Given the description of an element on the screen output the (x, y) to click on. 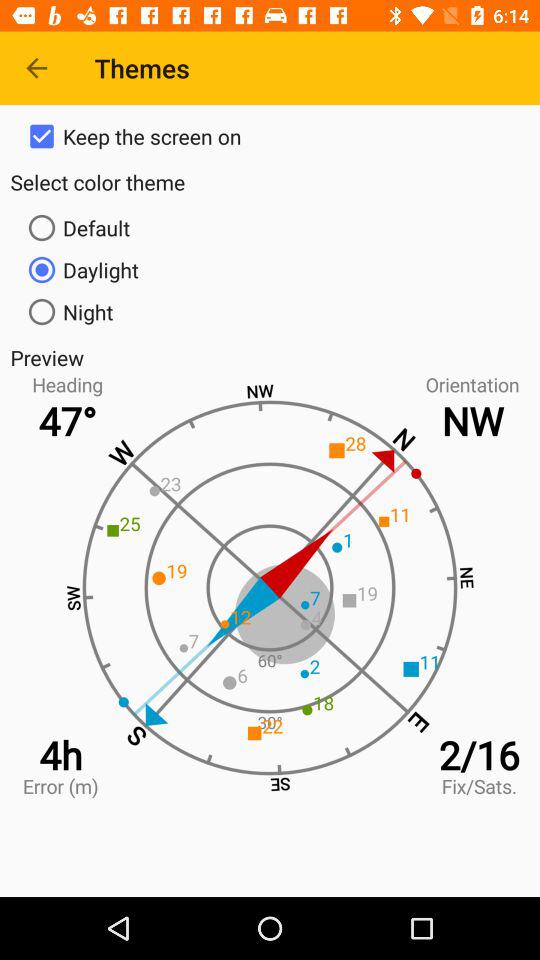
press icon above preview icon (270, 311)
